Given the description of an element on the screen output the (x, y) to click on. 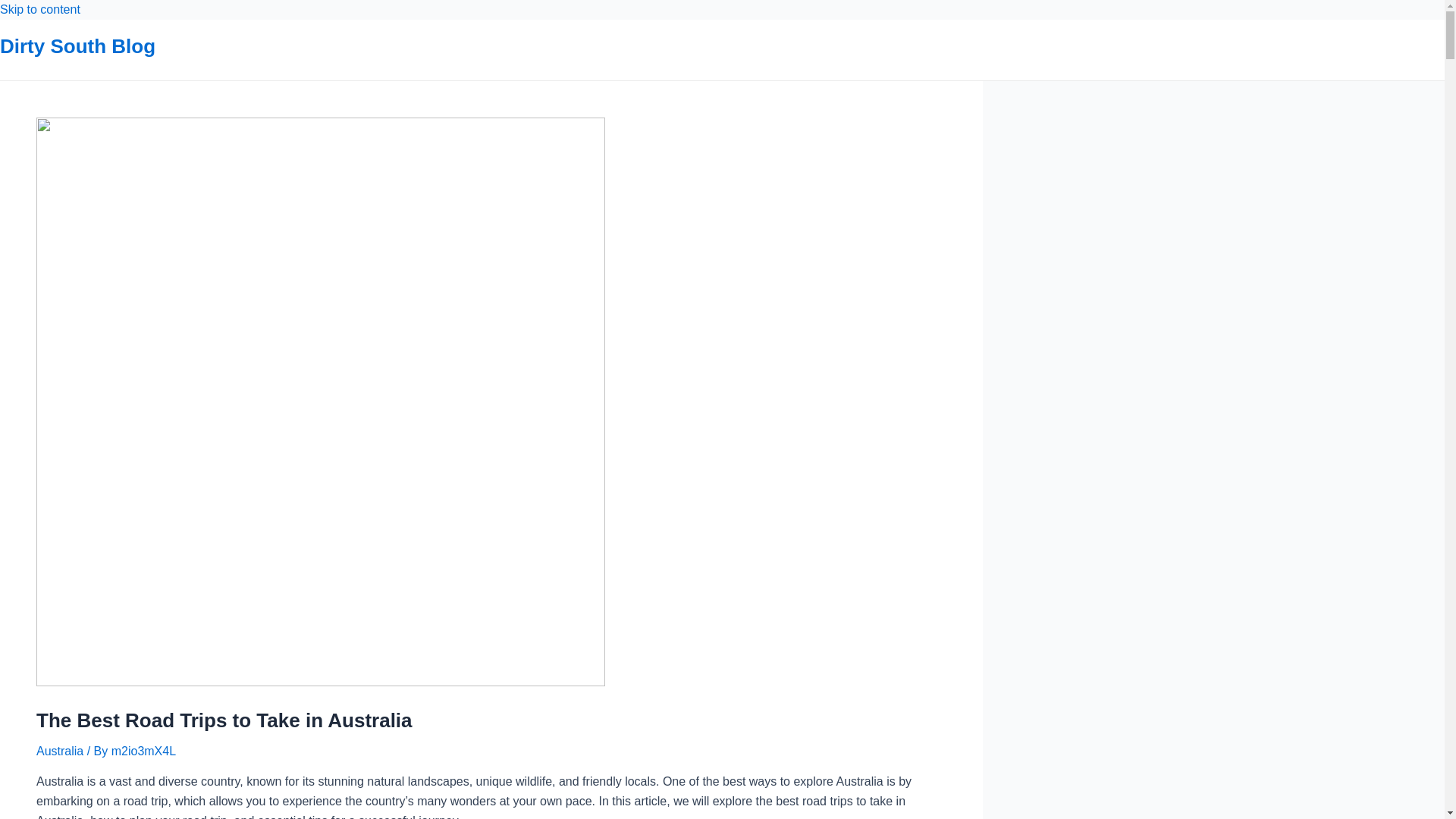
m2io3mX4L Element type: text (143, 750)
The Best Road Trips to Take in Australia Element type: text (224, 720)
Australia Element type: text (59, 750)
Skip to content Element type: text (40, 9)
Dirty South Blog Element type: text (77, 45)
